Given the description of an element on the screen output the (x, y) to click on. 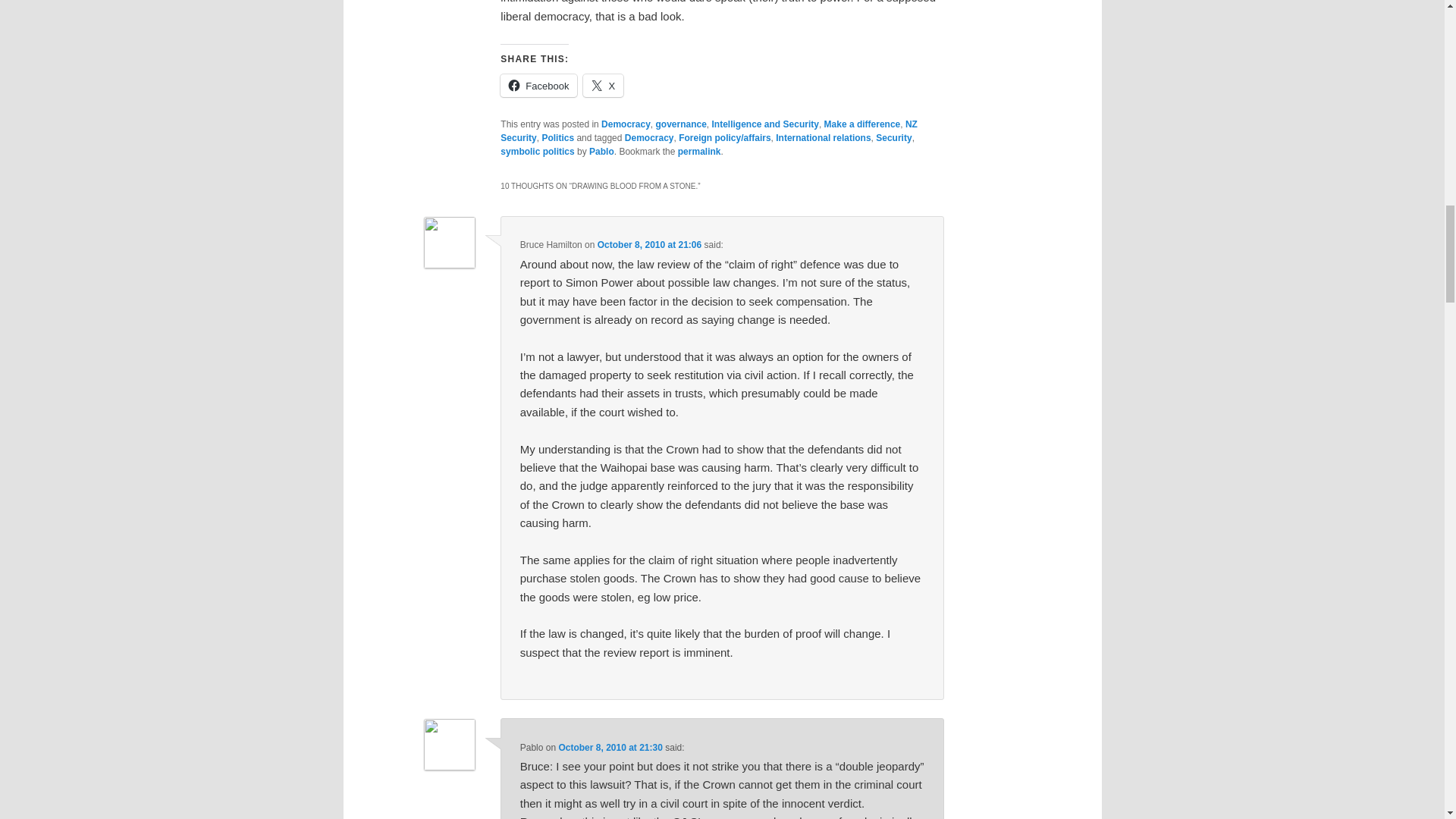
October 8, 2010 at 21:06 (648, 244)
October 8, 2010 at 21:30 (609, 747)
symbolic politics (536, 151)
Intelligence and Security (764, 123)
Politics (557, 137)
Make a difference (862, 123)
Democracy (625, 123)
permalink (699, 151)
NZ Security (708, 130)
governance (680, 123)
Democracy (649, 137)
Facebook (538, 85)
X (603, 85)
Click to share on Facebook (538, 85)
International relations (823, 137)
